Given the description of an element on the screen output the (x, y) to click on. 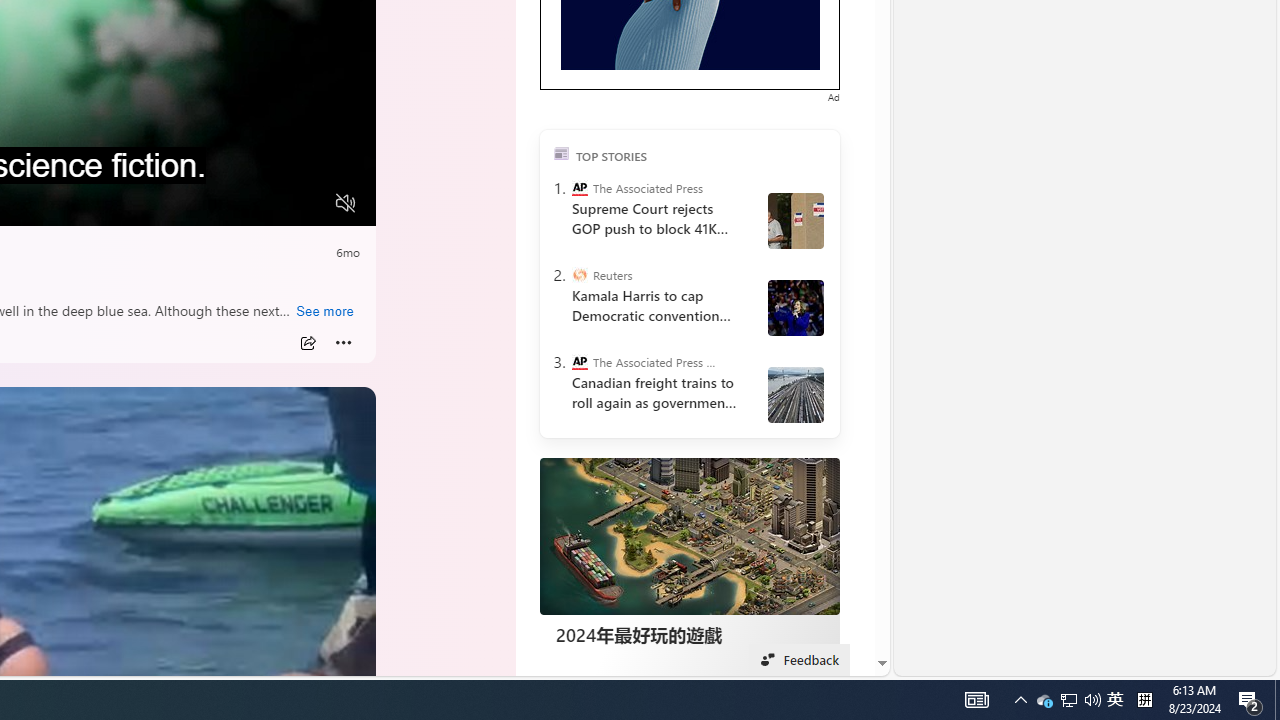
Quality Settings (227, 203)
The Associated Press (579, 187)
More (343, 343)
Captions (268, 203)
Fullscreen (307, 203)
 Canada Railroads Unions (796, 395)
Unmute (346, 203)
Class: at-item inline-watch (343, 343)
